Given the description of an element on the screen output the (x, y) to click on. 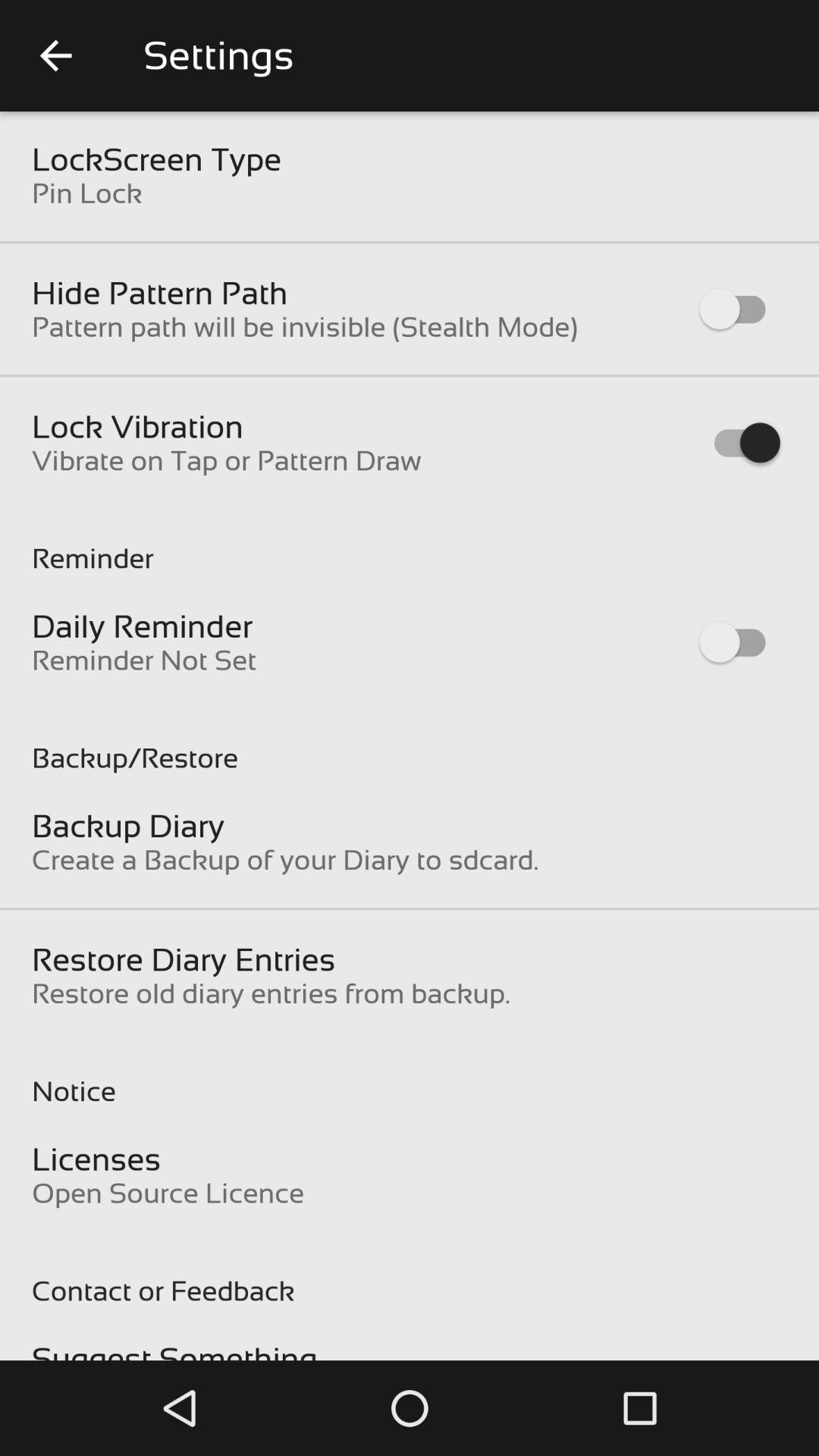
launch the item above suggest something item (409, 1274)
